Given the description of an element on the screen output the (x, y) to click on. 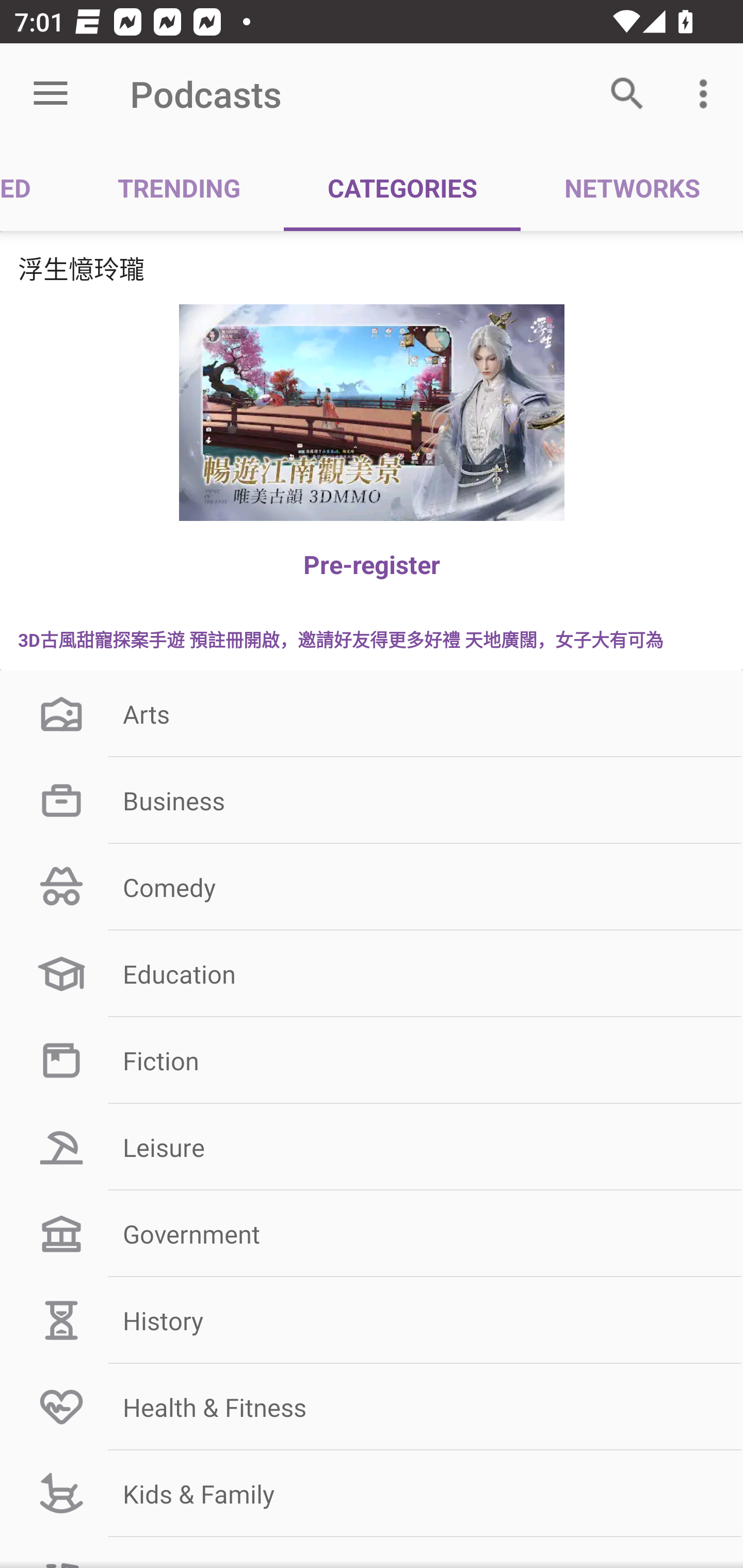
Open menu (50, 93)
Search (626, 93)
More options (706, 93)
TRENDING (178, 187)
CATEGORIES (401, 187)
NETWORKS (631, 187)
浮生憶玲瓏 (371, 267)
Pre-register (371, 564)
3D古風甜寵探案手遊 預註冊開啟，邀請好友得更多好禮 天地廣闊，女子大有可為 (371, 638)
Arts (371, 714)
Business (371, 800)
Comedy (371, 886)
Education (371, 973)
Fiction (371, 1060)
Leisure (371, 1146)
Government (371, 1233)
History (371, 1320)
Health & Fitness (371, 1407)
Kids & Family (371, 1493)
